Given the description of an element on the screen output the (x, y) to click on. 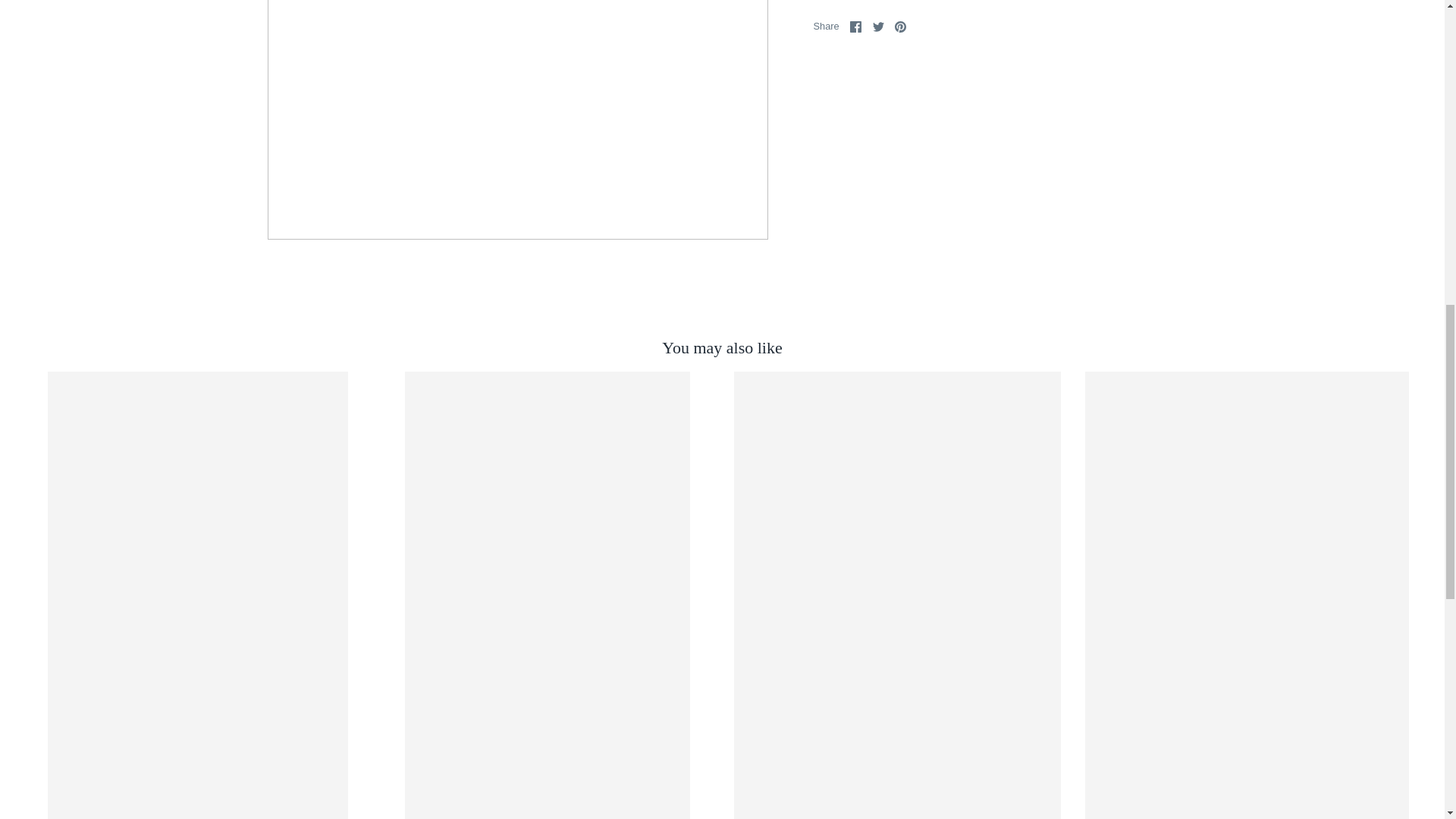
Facebook (855, 26)
Pinterest (900, 26)
Twitter (877, 26)
